Given the description of an element on the screen output the (x, y) to click on. 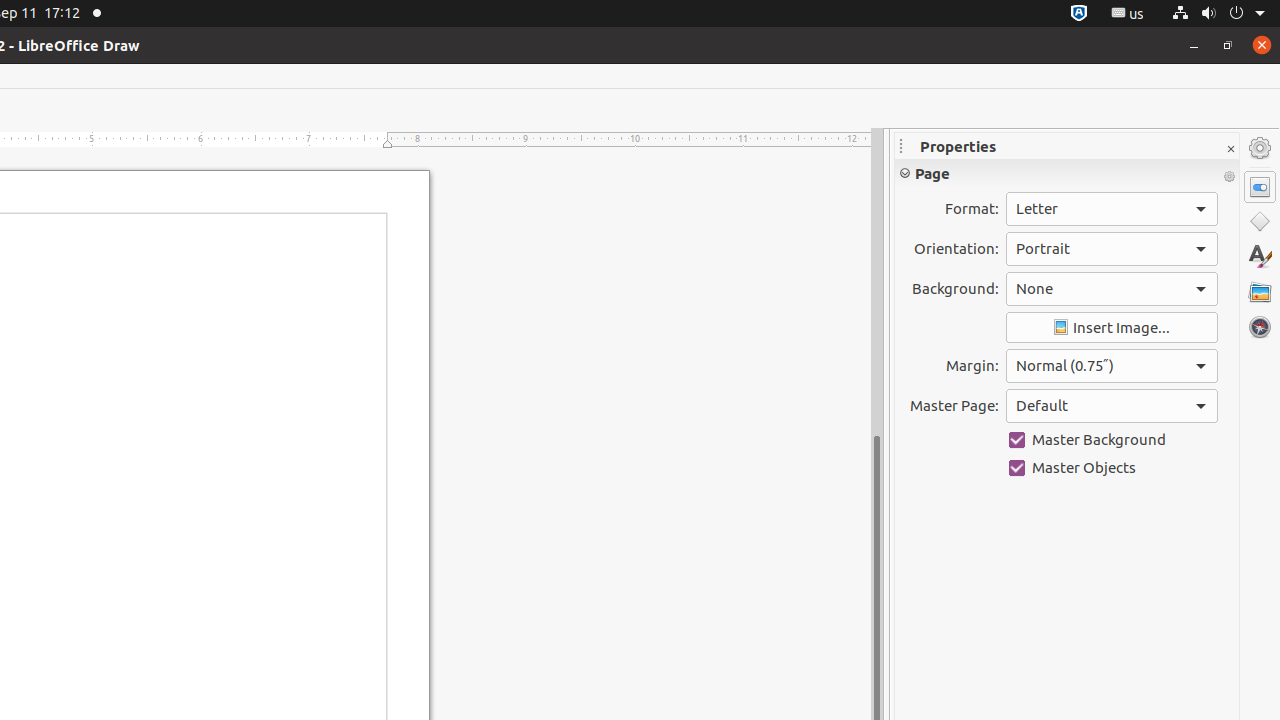
Format: Element type: combo-box (1112, 209)
Background: Element type: combo-box (1112, 289)
